Given the description of an element on the screen output the (x, y) to click on. 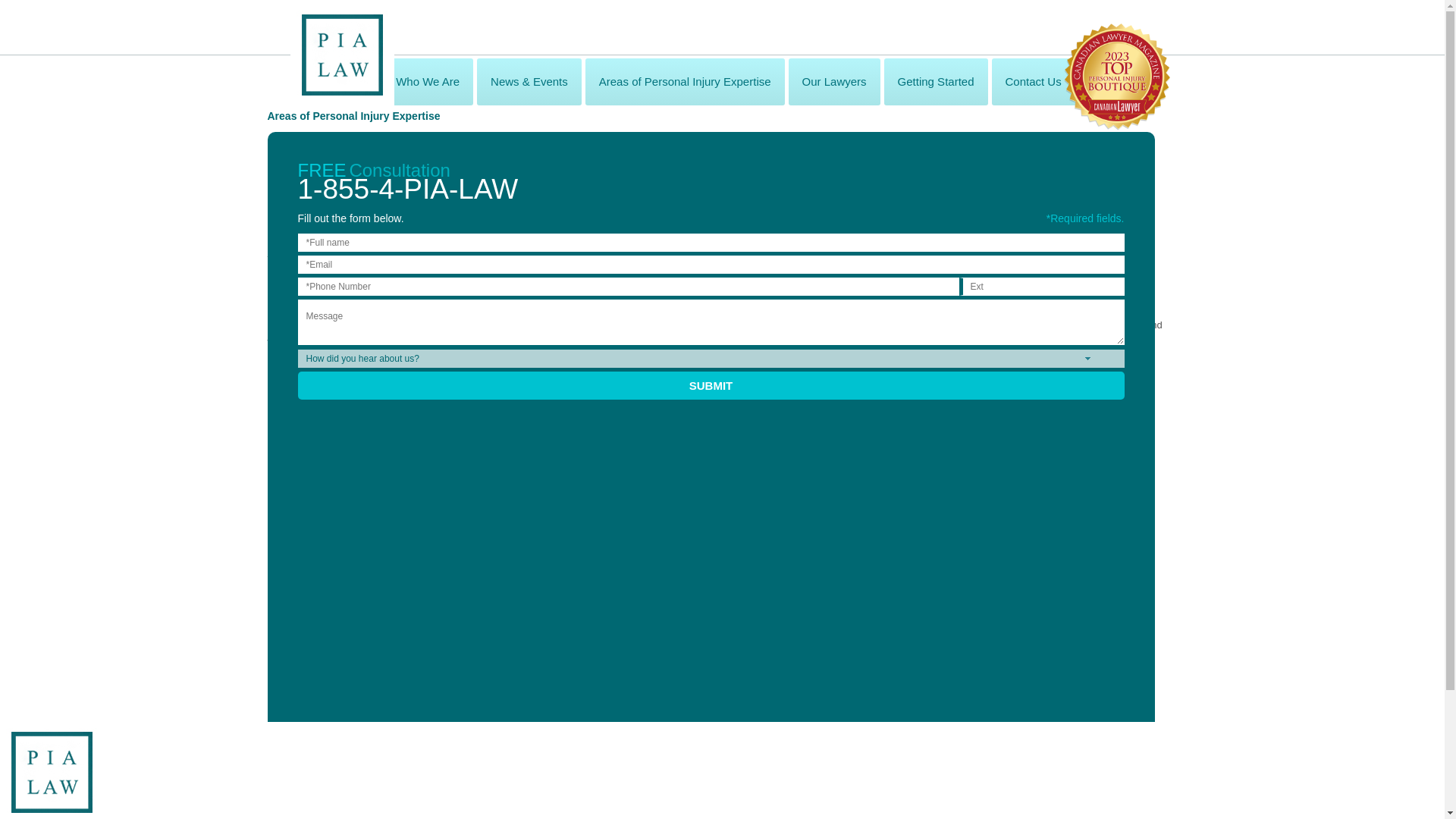
Getting Started (935, 81)
Our Lawyers (834, 81)
Areas of Personal Injury Expertise (684, 81)
Who We Are (427, 81)
